Given the description of an element on the screen output the (x, y) to click on. 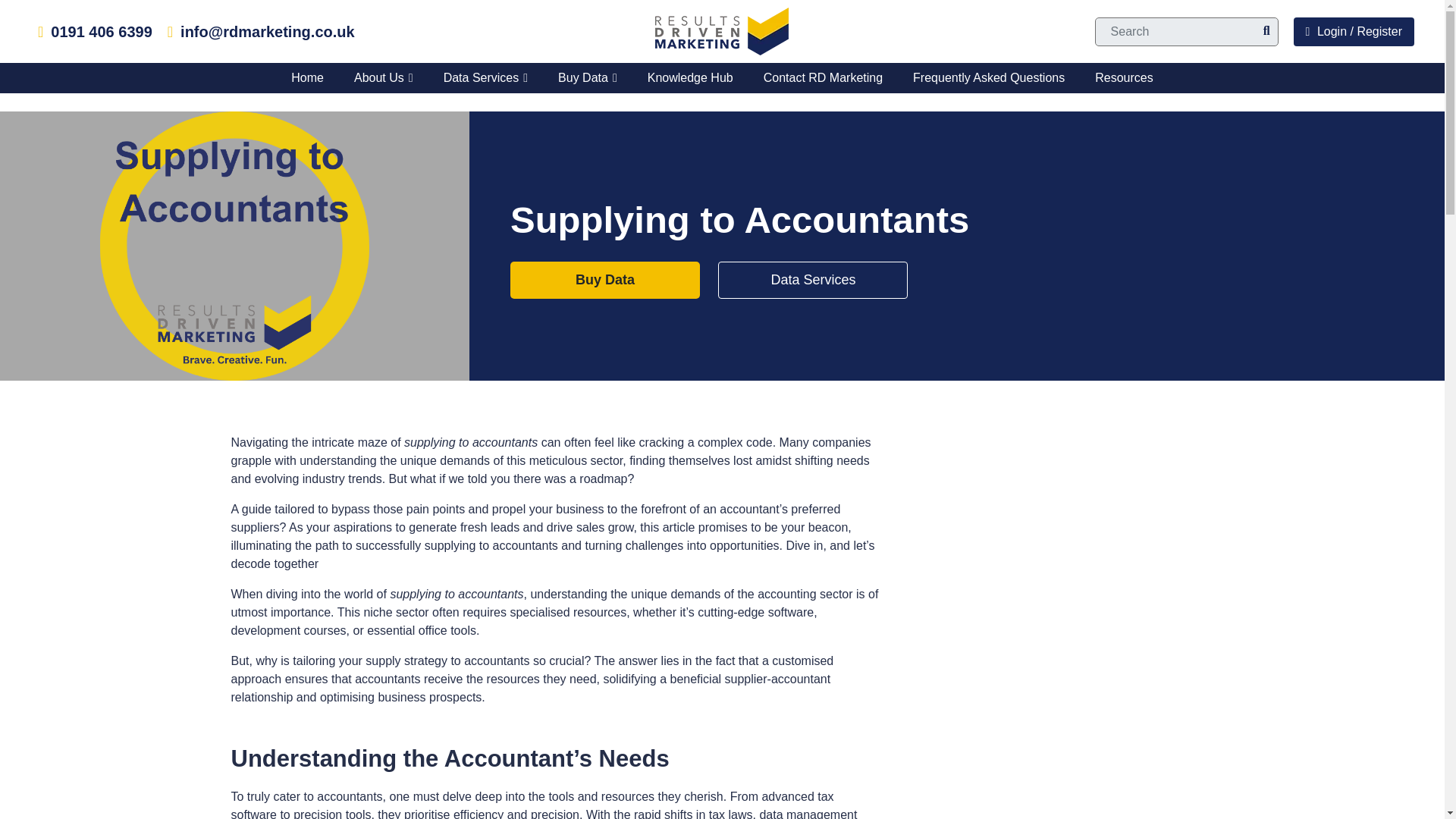
About Us (383, 78)
0191 406 6399 (100, 30)
Data Services (812, 279)
Home (307, 78)
Frequently Asked Questions (989, 78)
Resources (1123, 78)
Buy Data (587, 78)
Data Services (485, 78)
Contact RD Marketing (823, 78)
Knowledge Hub (689, 78)
